Given the description of an element on the screen output the (x, y) to click on. 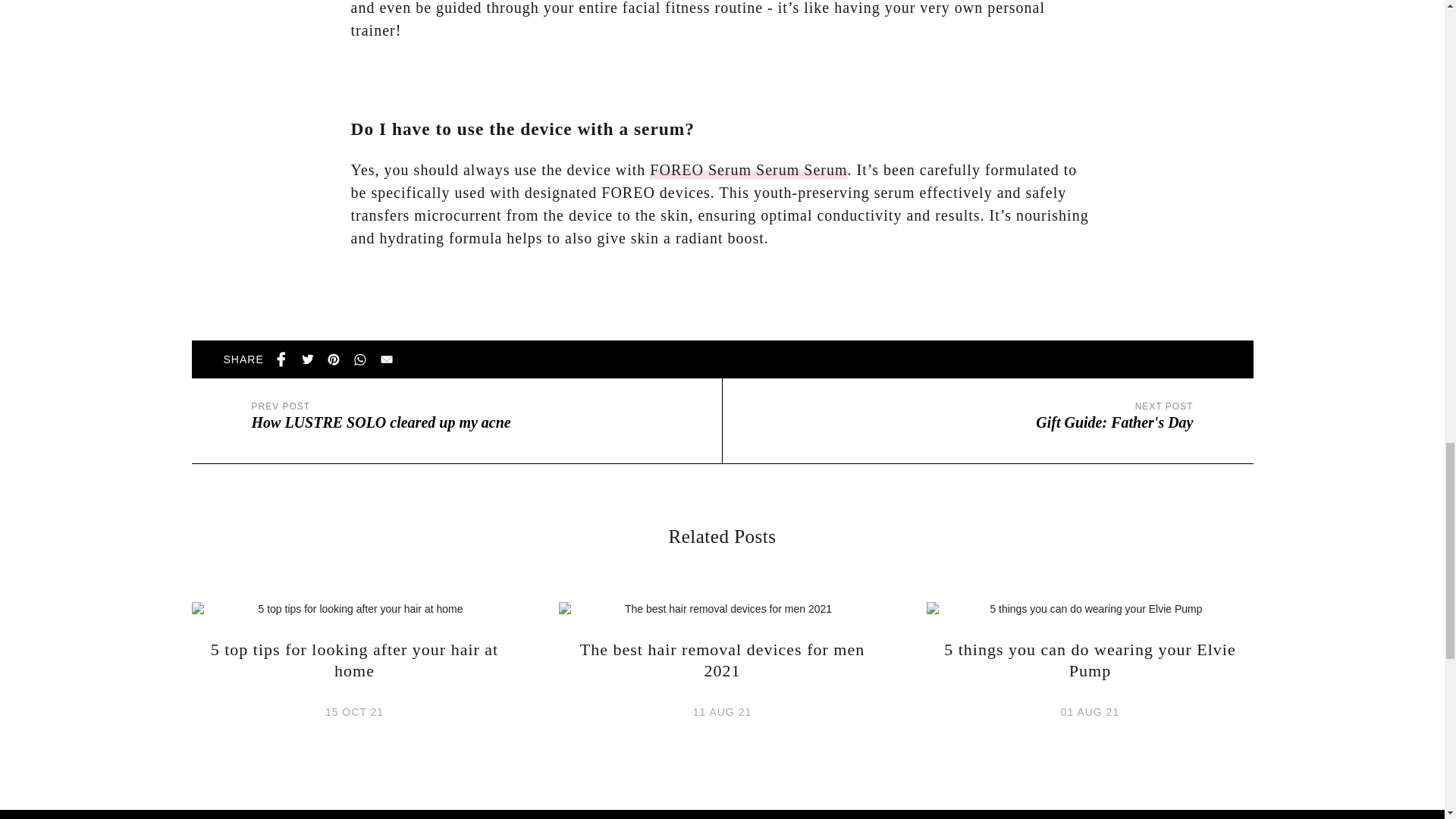
PIN ON PINTEREST (336, 358)
Pin on Pinterest (336, 358)
SHARE ON FACEBOOK (284, 358)
Tweet on Twitter (310, 358)
FOREO Serum Serum Serum (748, 170)
Share on Facebook (284, 358)
Send via whatsapp (361, 358)
Share by email (388, 358)
TWEET ON TWITTER (310, 358)
